Given the description of an element on the screen output the (x, y) to click on. 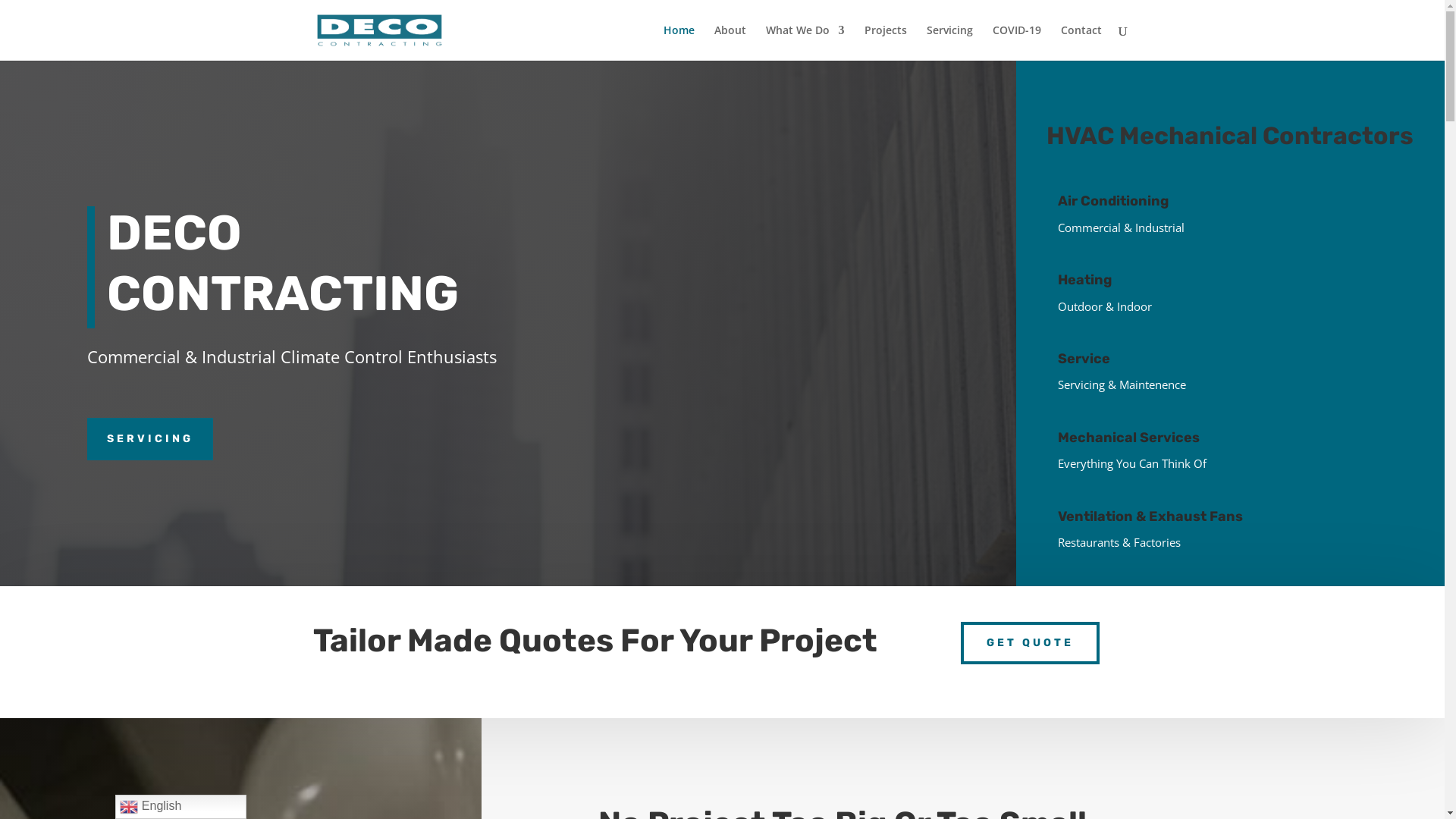
Home Element type: text (677, 42)
Air Conditioning Element type: text (1112, 200)
About Element type: text (730, 42)
GET QUOTE Element type: text (1029, 642)
SERVICING Element type: text (150, 438)
Servicing Element type: text (949, 42)
COVID-19 Element type: text (1015, 42)
Projects Element type: text (885, 42)
What We Do Element type: text (804, 42)
Contact Element type: text (1080, 42)
